Given the description of an element on the screen output the (x, y) to click on. 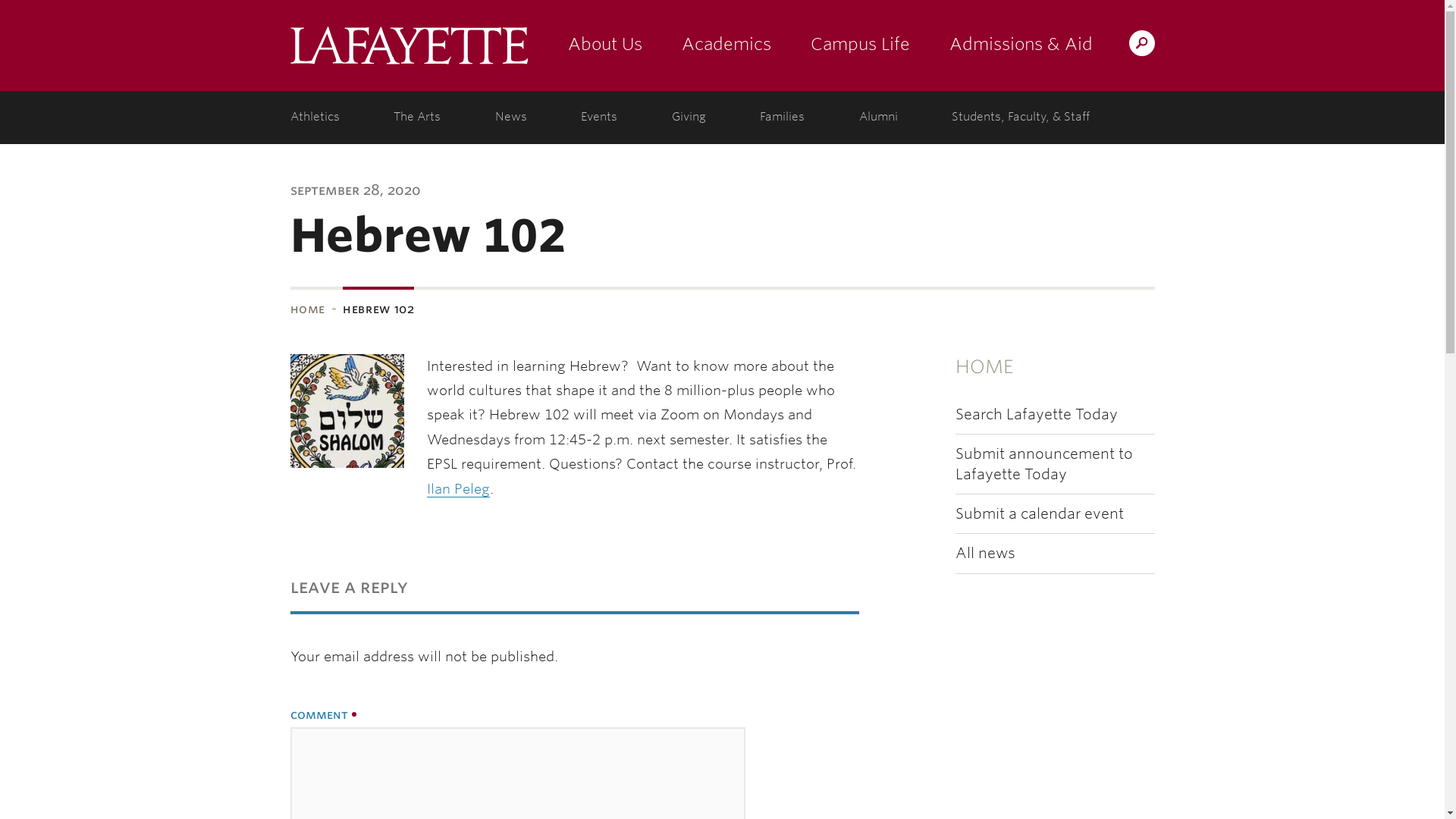
Lafayette College (408, 45)
Campus Life (859, 45)
Search (842, 42)
About Us (603, 45)
Academics (725, 45)
Search Lafayette.edu (1141, 43)
